Given the description of an element on the screen output the (x, y) to click on. 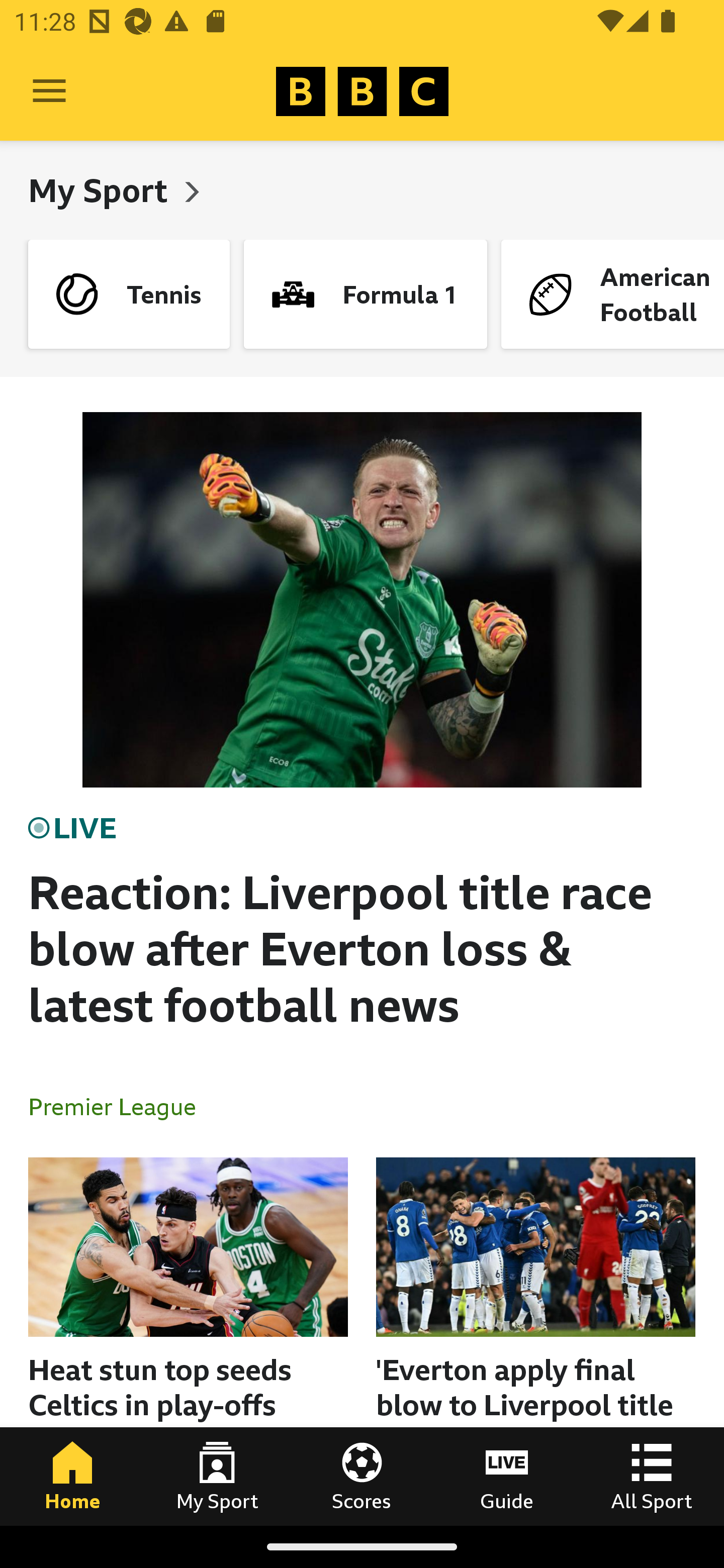
Open Menu (49, 91)
My Sport (101, 190)
Premier League In the section Premier League (119, 1106)
My Sport (216, 1475)
Scores (361, 1475)
Guide (506, 1475)
All Sport (651, 1475)
